Given the description of an element on the screen output the (x, y) to click on. 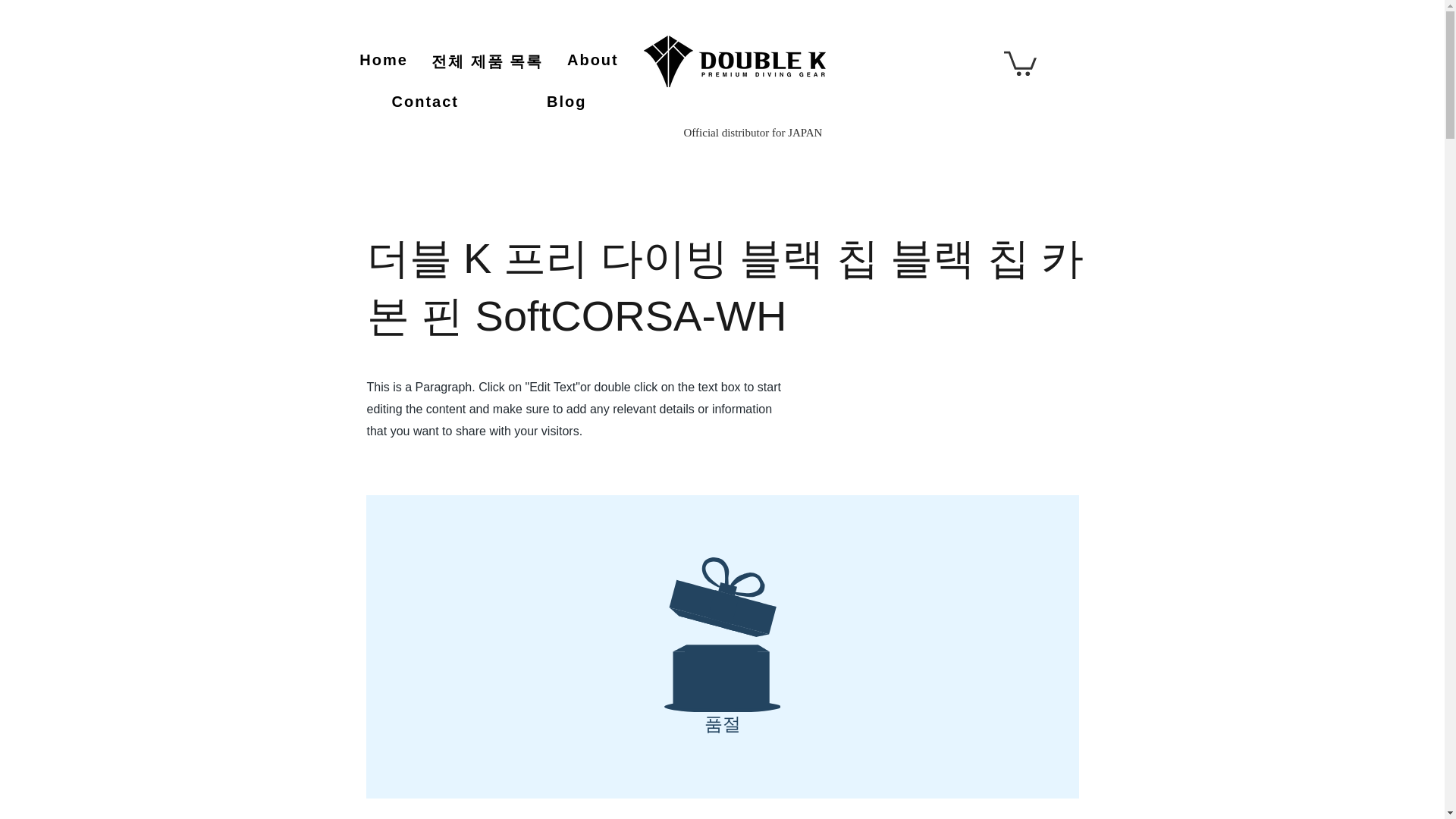
Home (383, 60)
Contact (424, 101)
Blog (566, 101)
About (592, 60)
